Given the description of an element on the screen output the (x, y) to click on. 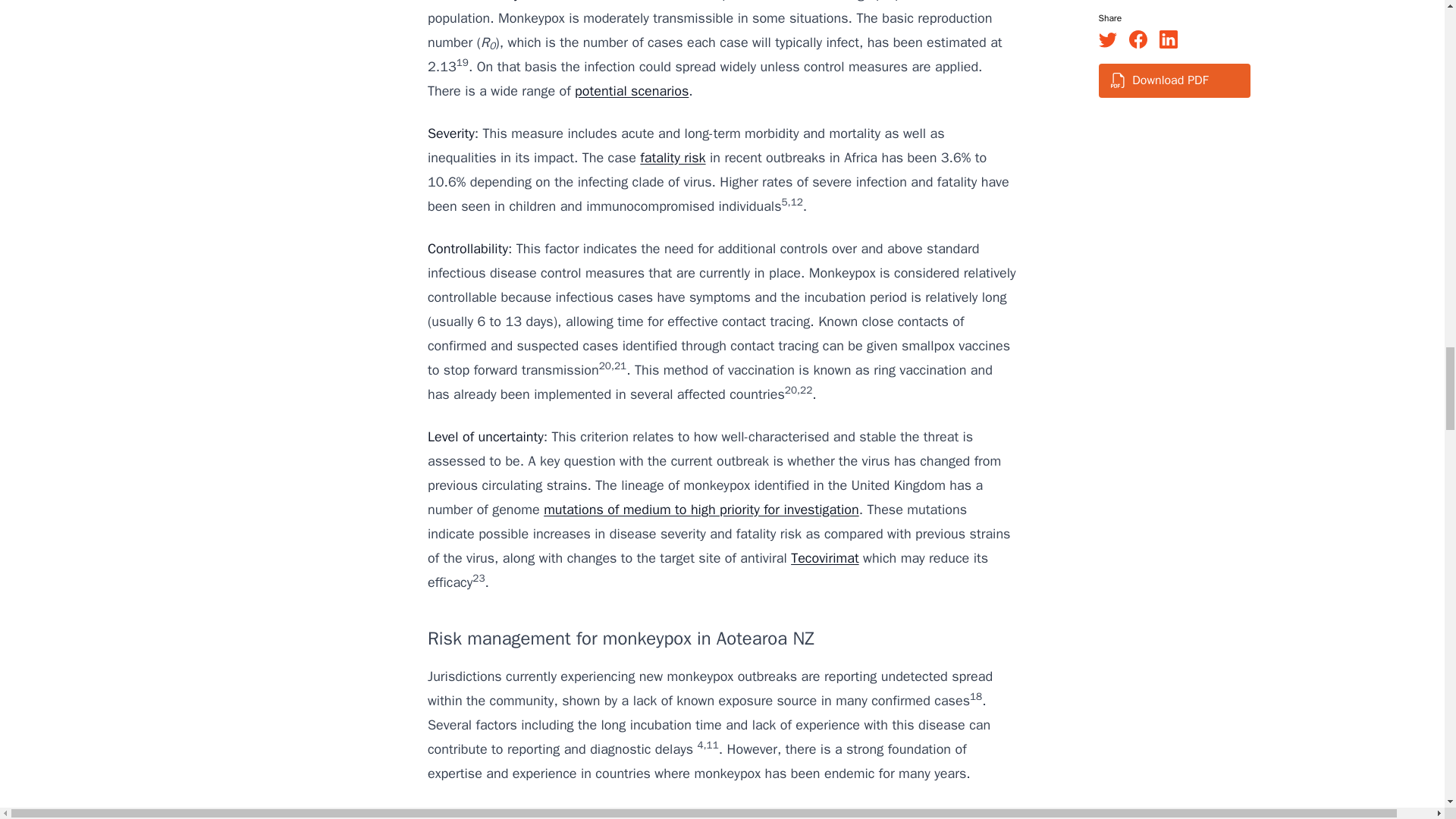
Tecovirimat (824, 557)
fatality risk (672, 157)
potential scenarios (631, 90)
mutations of medium to high priority for investigation (701, 509)
